Given the description of an element on the screen output the (x, y) to click on. 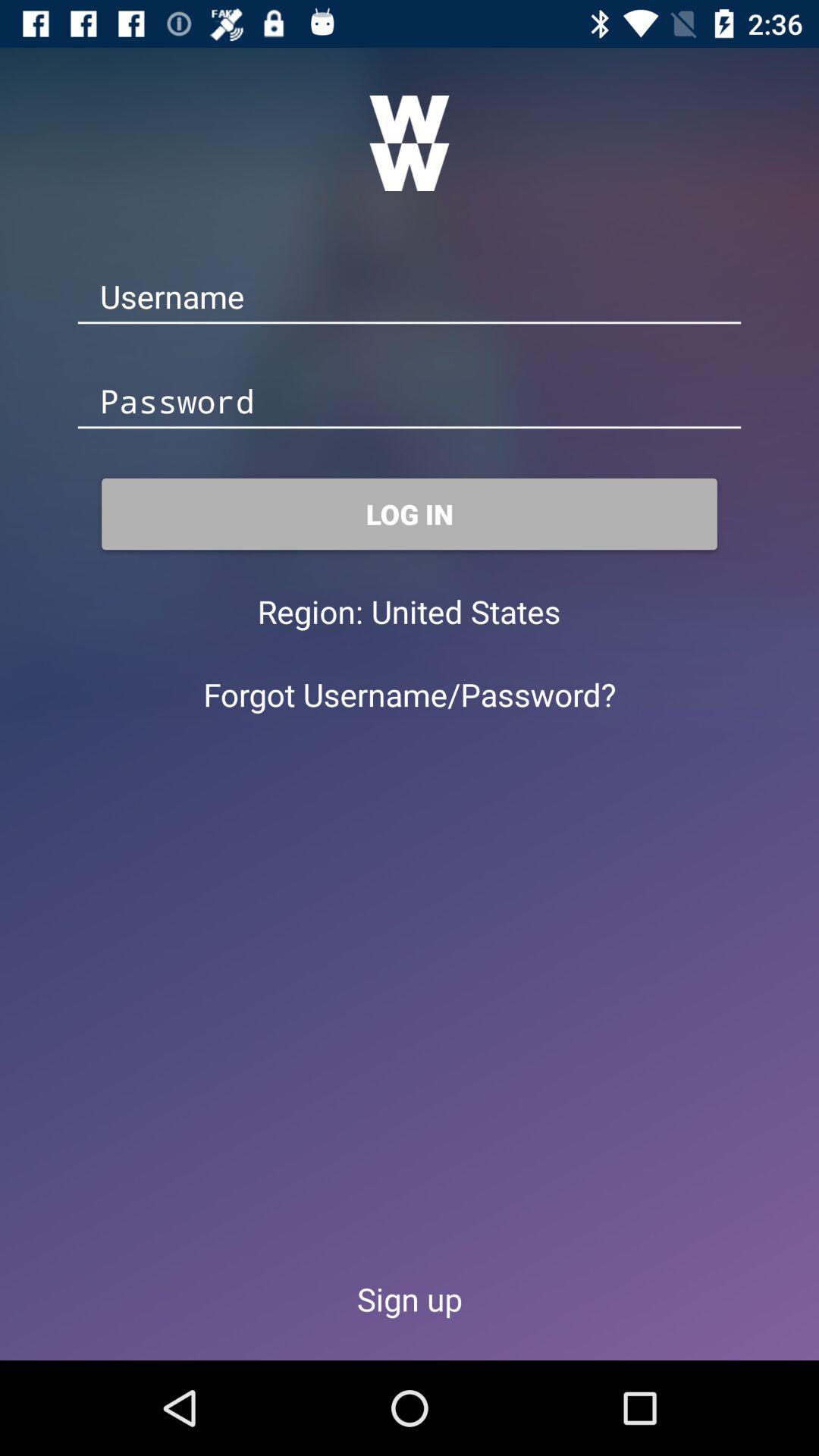
type username (409, 297)
